Given the description of an element on the screen output the (x, y) to click on. 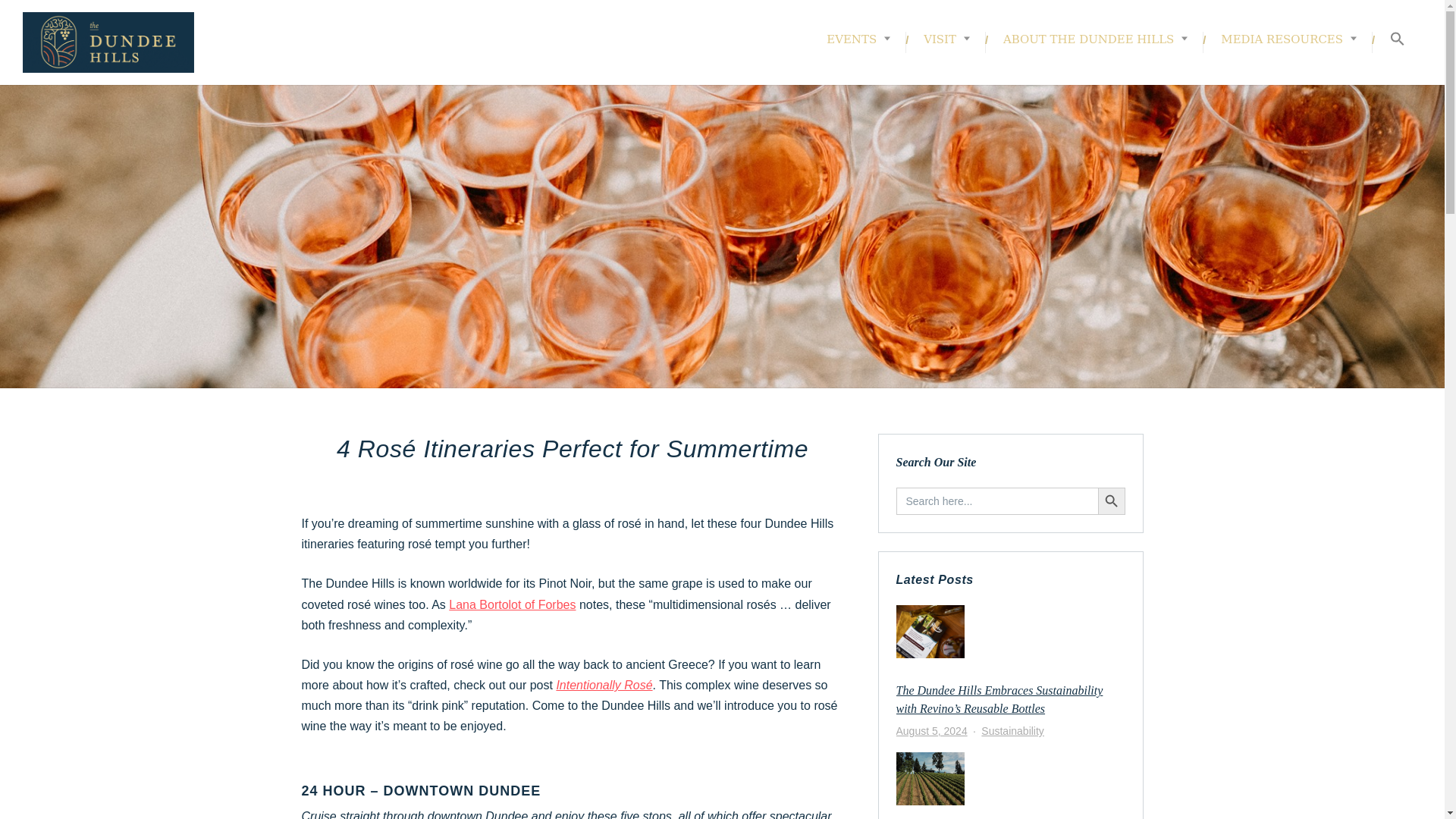
ABOUT THE DUNDEE HILLS (1095, 39)
EVENTS (858, 39)
MEDIA RESOURCES (1288, 39)
VISIT (947, 39)
Lana Bortolot of Forbes (511, 604)
